Given the description of an element on the screen output the (x, y) to click on. 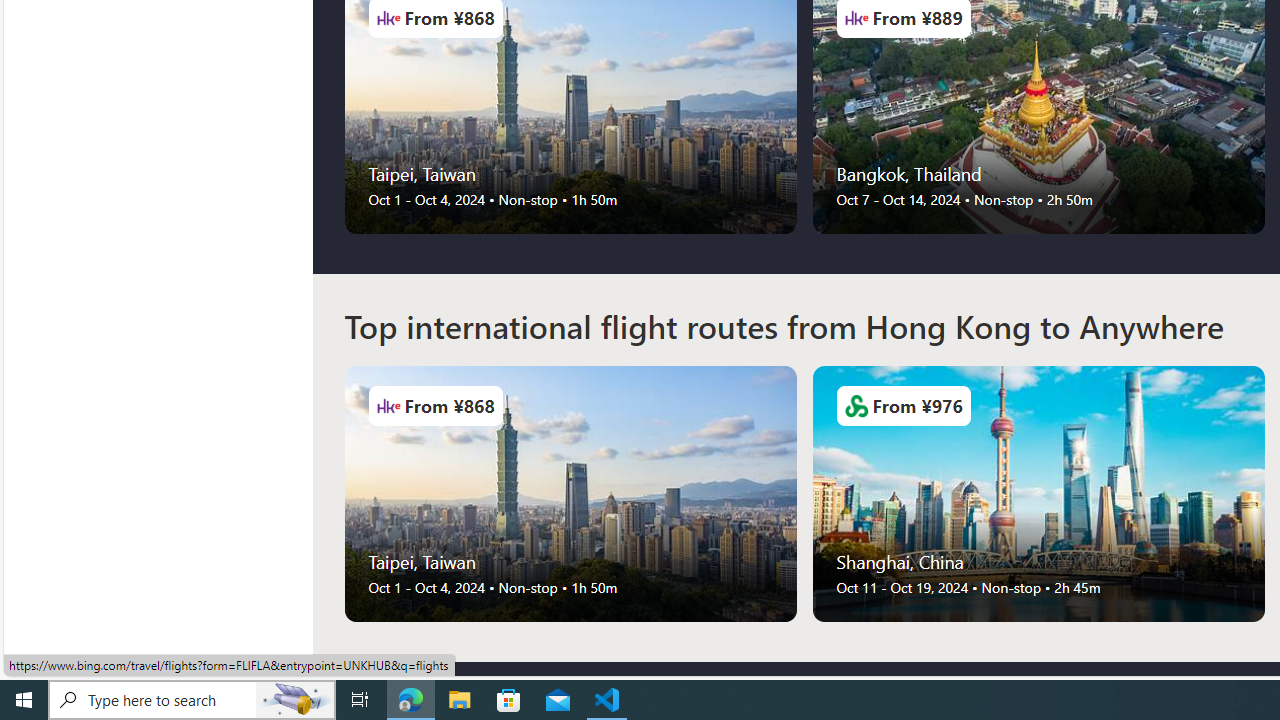
Airlines Logo (856, 405)
